Given the description of an element on the screen output the (x, y) to click on. 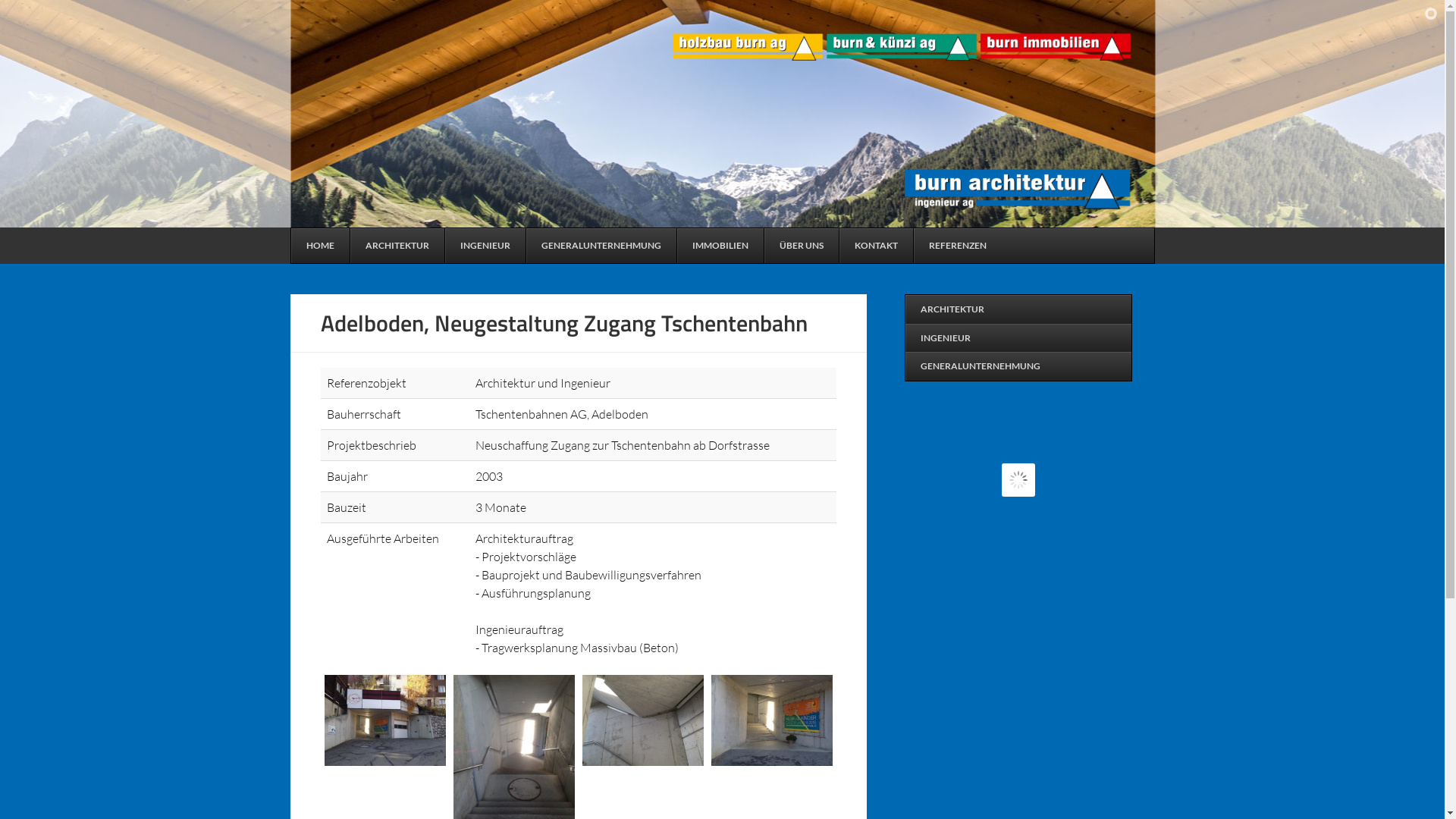
HOME Element type: text (320, 245)
KONTAKT Element type: text (875, 245)
IMMOBILIEN Element type: text (719, 245)
tschentenbahn-4 Element type: hover (771, 719)
INGENIEUR Element type: text (484, 245)
tschentenbahn-1 Element type: hover (384, 719)
ARCHITEKTUR Element type: text (395, 245)
ARCHITEKTUR Element type: text (1018, 308)
REFERENZEN Element type: text (957, 245)
INGENIEUR Element type: text (1018, 337)
GENERALUNTERNEHMUNG Element type: text (1018, 365)
GENERALUNTERNEHMUNG Element type: text (599, 245)
tschentenbahn-3 Element type: hover (642, 719)
